Given the description of an element on the screen output the (x, y) to click on. 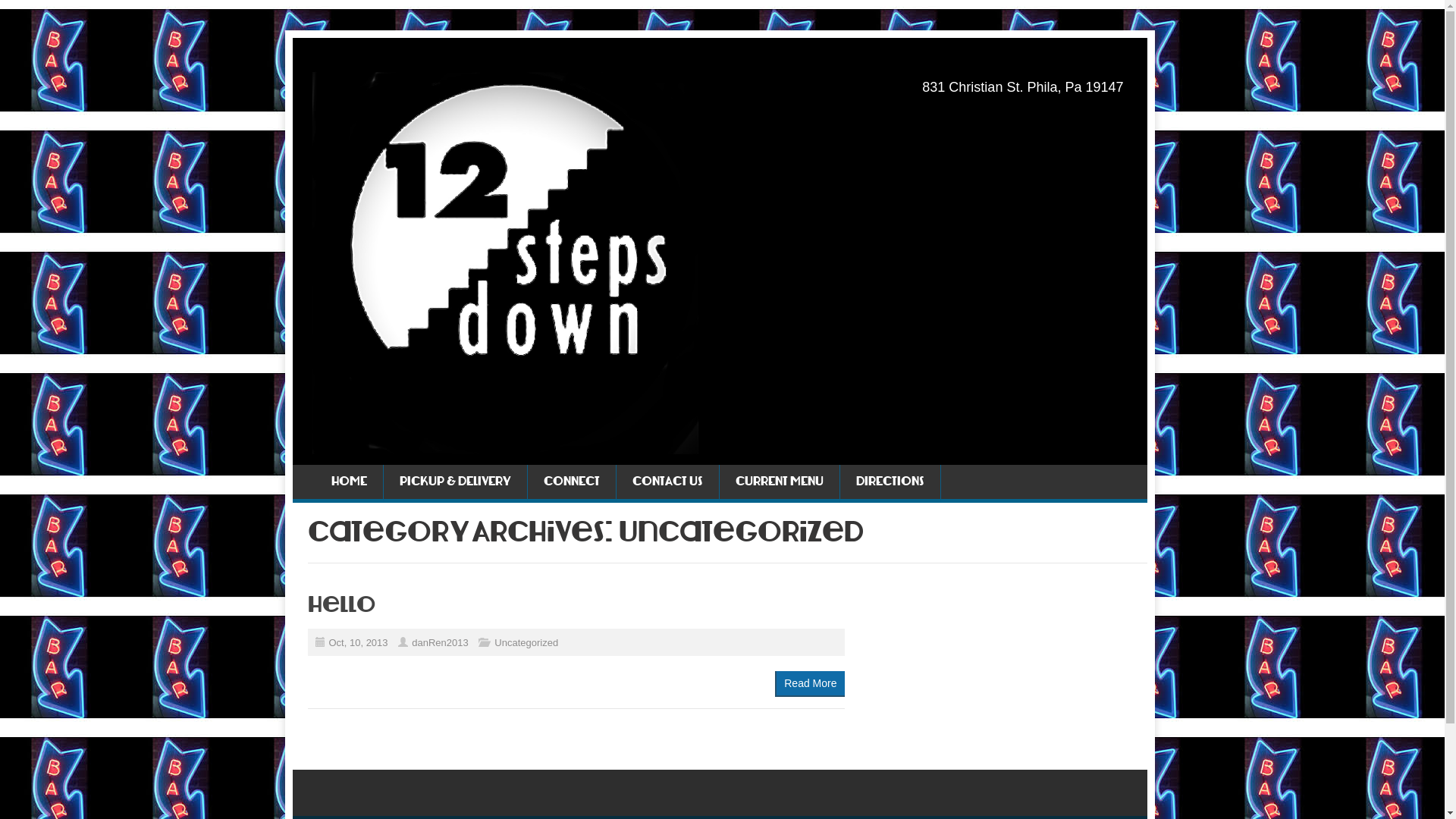
HOME Element type: text (348, 481)
Hello Element type: text (341, 604)
DIRECTIONS Element type: text (889, 481)
CONTACT US Element type: text (667, 481)
Read More Element type: text (809, 683)
danRen2013 Element type: text (439, 642)
PICKUP & DELIVERY Element type: text (454, 481)
CONNECT Element type: text (570, 481)
Uncategorized Element type: text (526, 642)
CURRENT MENU Element type: text (779, 481)
